Given the description of an element on the screen output the (x, y) to click on. 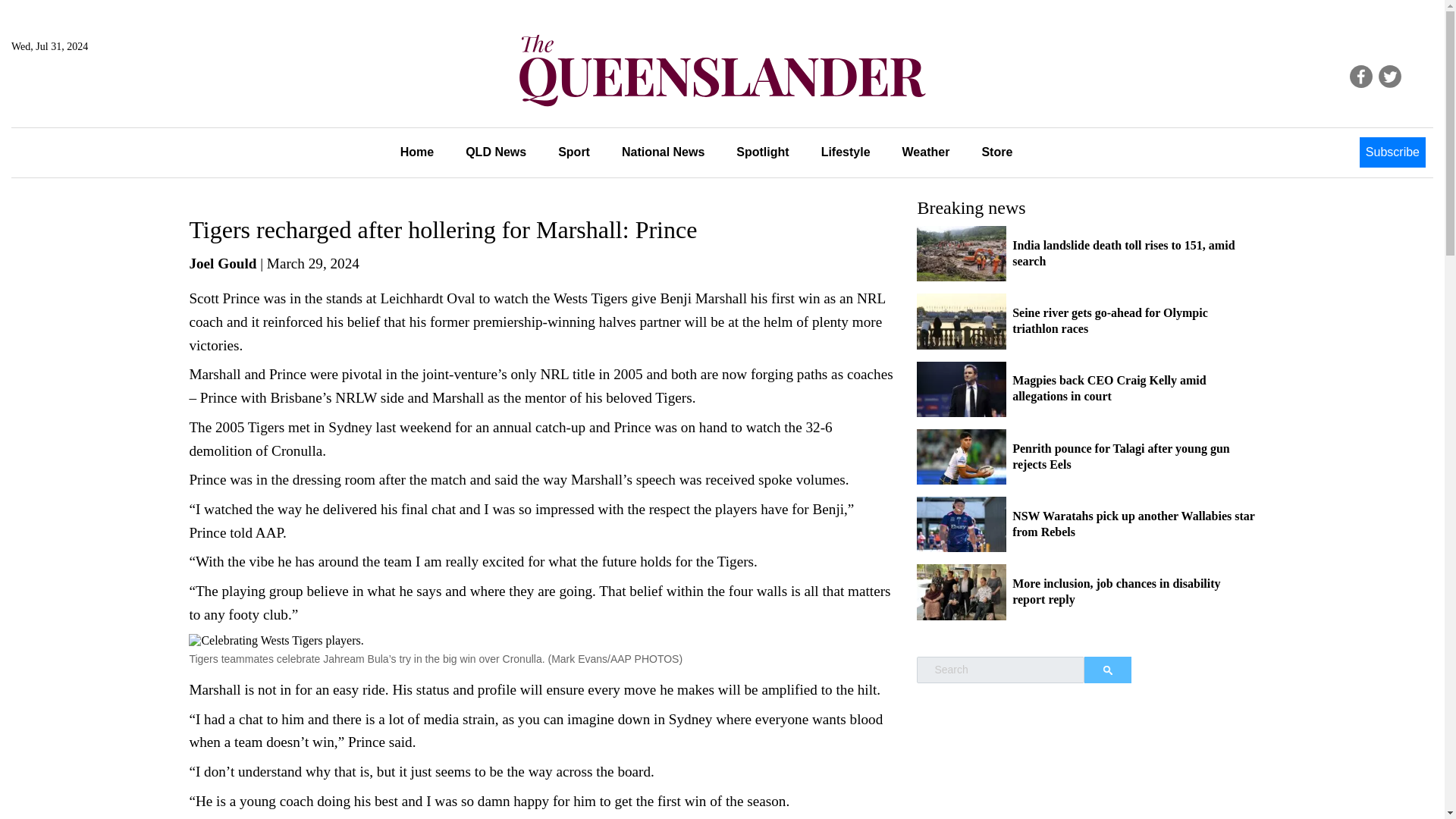
India landslide death toll rises to 151, amid search (1122, 253)
Subscribe (1392, 152)
Seine river gets go-ahead for Olympic triathlon races (1109, 320)
Penrith pounce for Talagi after young gun rejects Eels (1120, 456)
Weather (926, 152)
National News (662, 152)
More inclusion, job chances in disability report reply (1115, 591)
Search (1107, 669)
Brisbane Forecast (84, 97)
NSW Waratahs pick up another Wallabies star from Rebels (1132, 523)
Lifestyle (845, 152)
QLD News (495, 152)
Spotlight (762, 152)
Magpies back CEO Craig Kelly amid allegations in court (1109, 387)
